Given the description of an element on the screen output the (x, y) to click on. 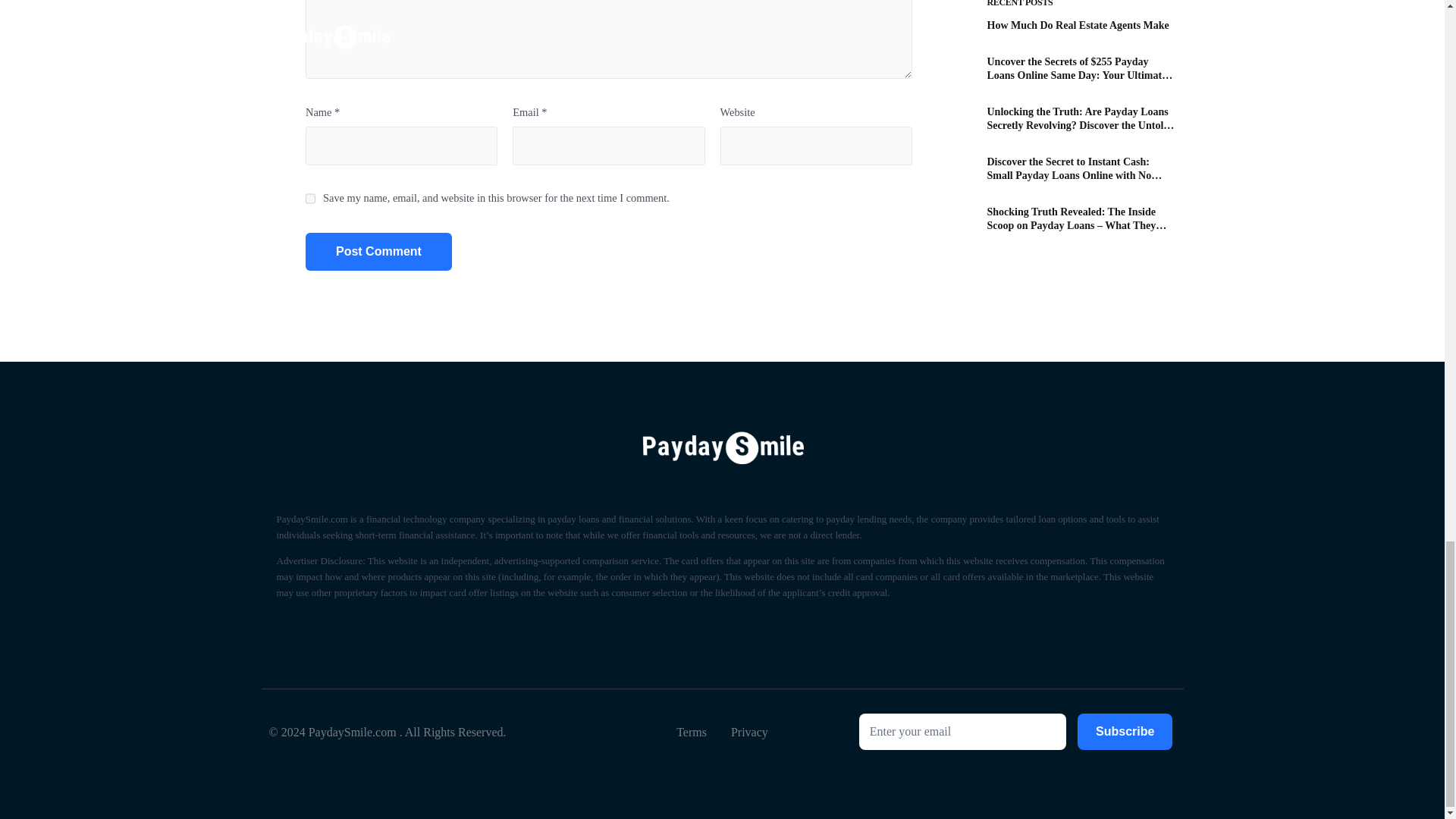
Post Comment (378, 251)
Post Comment (378, 251)
Terms (691, 731)
Privacy (749, 731)
Subscribe (1124, 731)
